Given the description of an element on the screen output the (x, y) to click on. 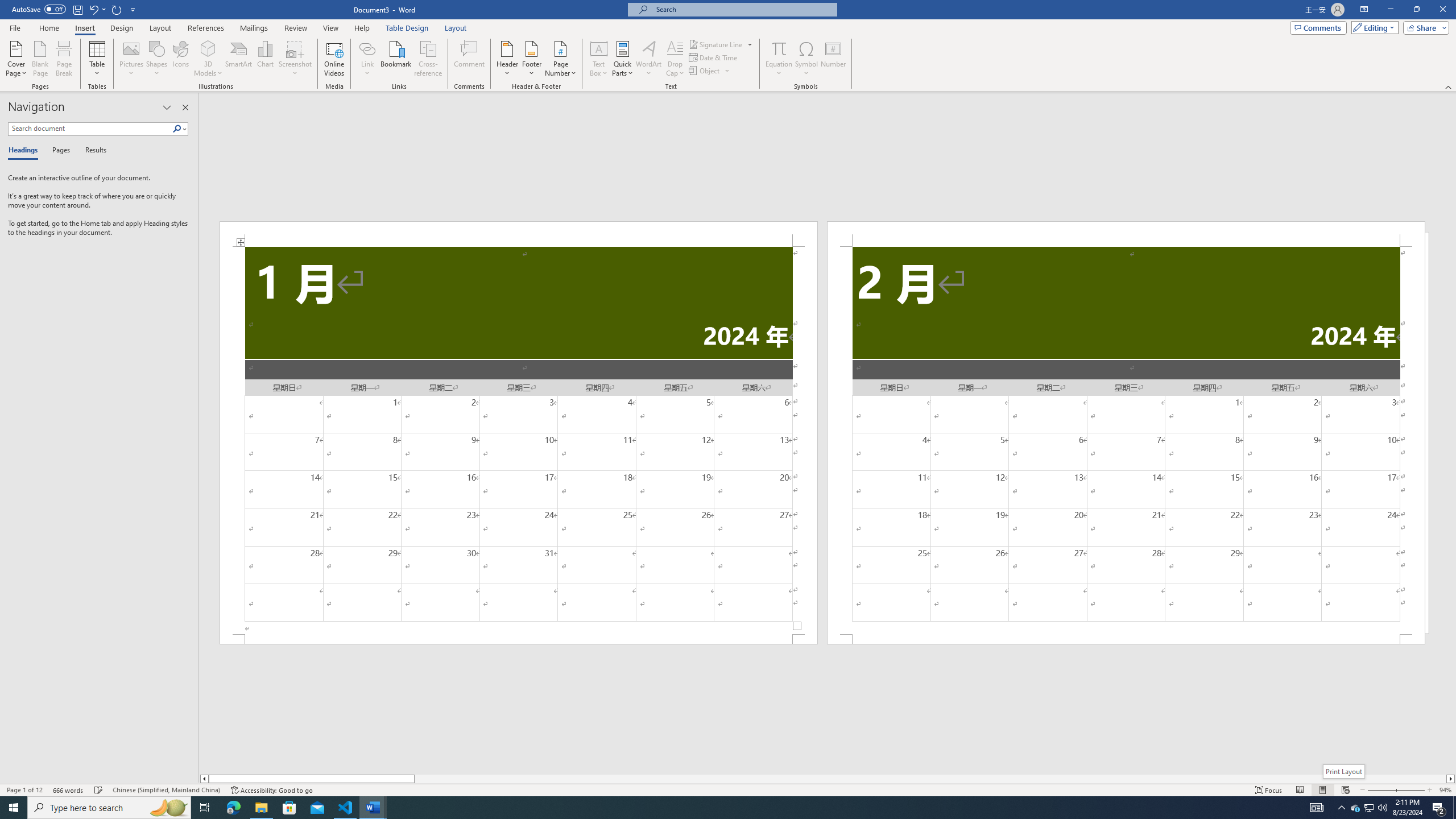
Header -Section 1- (518, 233)
Object... (705, 69)
Shapes (156, 58)
WordArt (648, 58)
Page 1 content (518, 439)
Accessibility Checker Accessibility: Good to go (271, 790)
Link (367, 48)
